Given the description of an element on the screen output the (x, y) to click on. 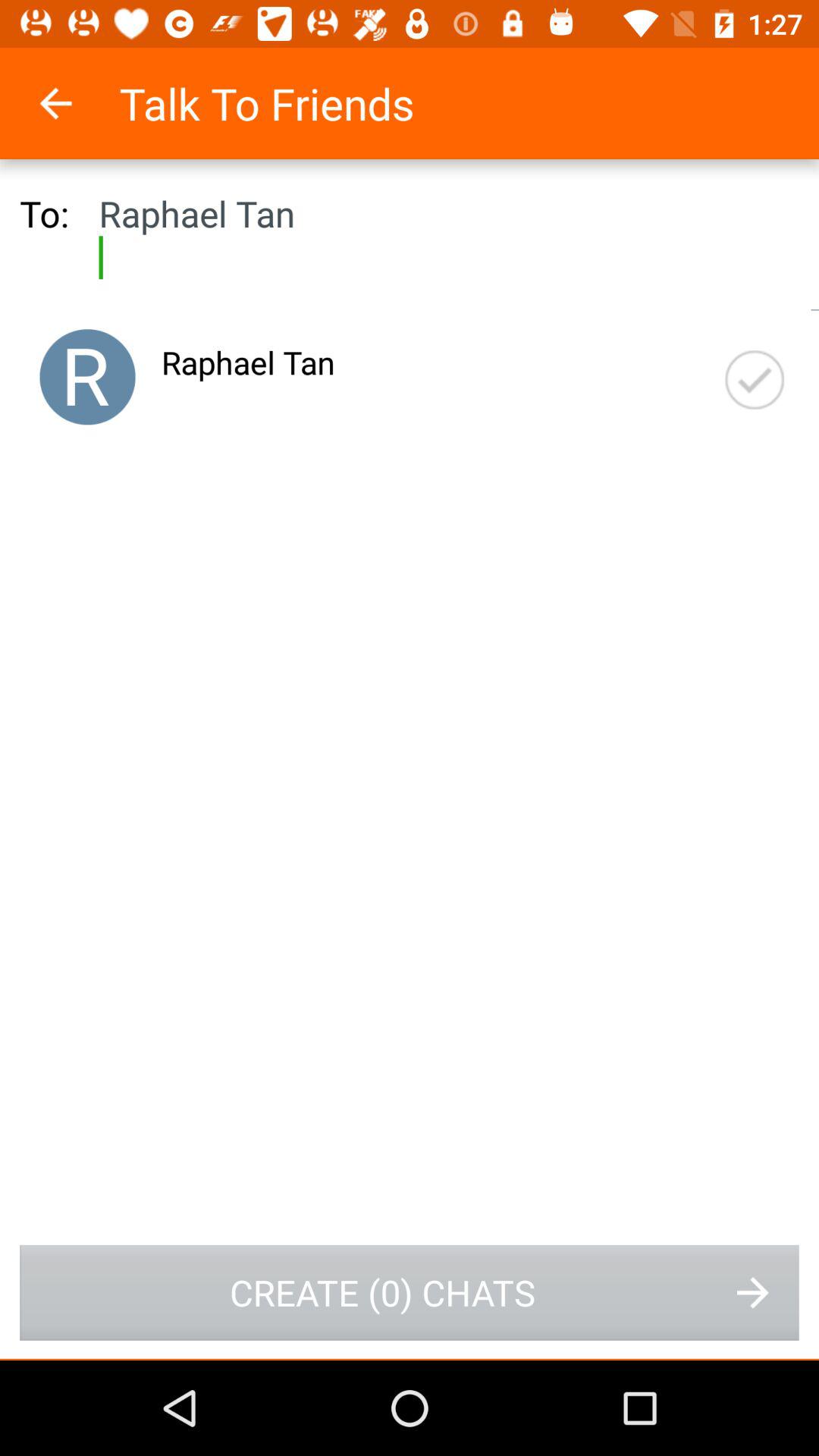
use a photo instead of the person first letter in name (87, 376)
